Given the description of an element on the screen output the (x, y) to click on. 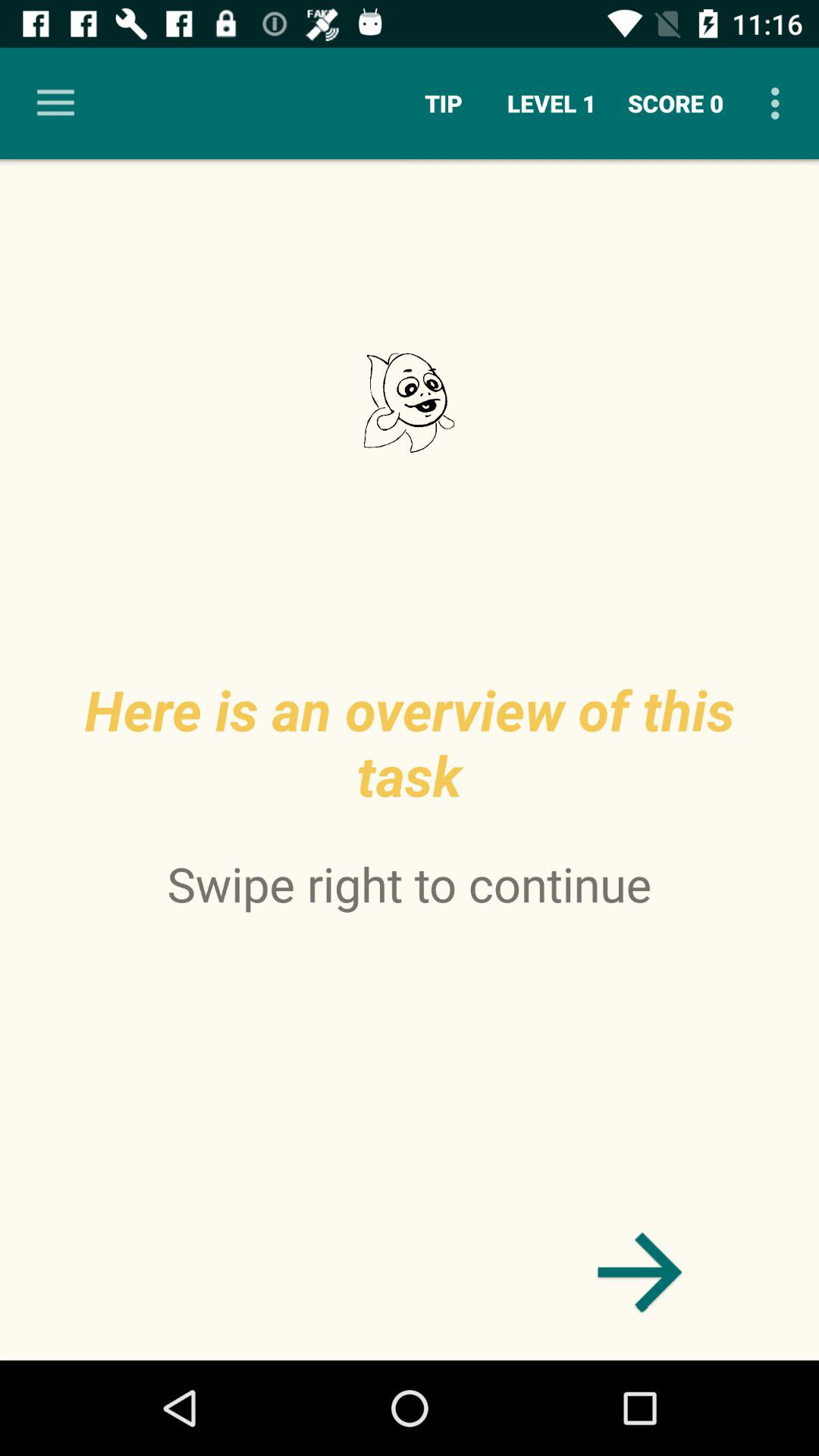
press score 0 (675, 103)
